Given the description of an element on the screen output the (x, y) to click on. 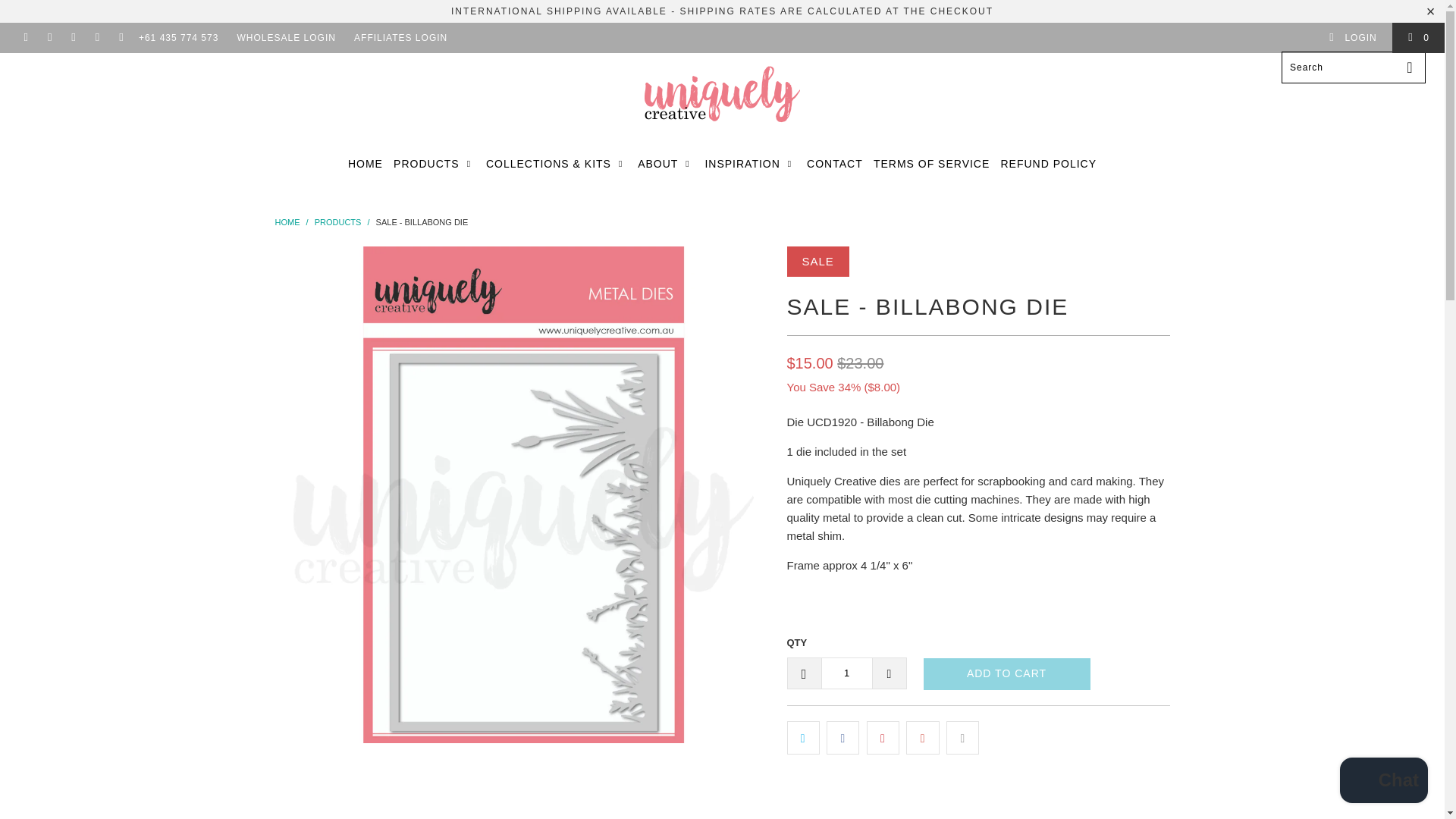
Share this on Facebook (843, 736)
Uniquely Creative on Instagram (96, 37)
Share this on Pinterest (882, 736)
Uniquely Creative on YouTube (48, 37)
My Account  (1352, 37)
Email Uniquely Creative (121, 37)
Uniquely Creative on Pinterest (73, 37)
Email this to a friend (962, 736)
Products (337, 221)
1 (846, 672)
Uniquely Creative (287, 221)
Uniquely Creative on Facebook (25, 37)
Share this on Twitter (803, 736)
